Given the description of an element on the screen output the (x, y) to click on. 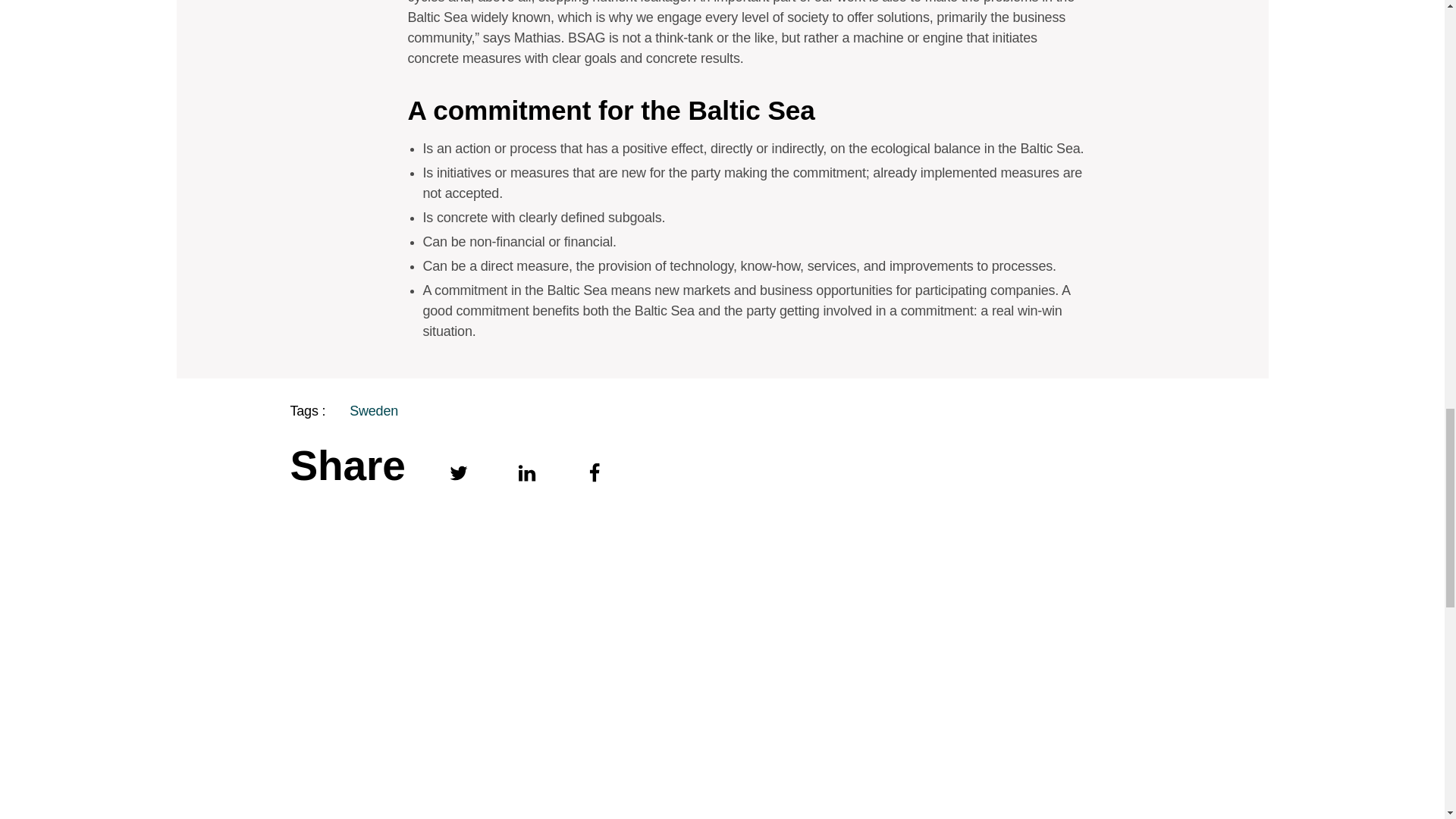
Twitter (459, 473)
Facebook (594, 473)
Linkedin (526, 473)
